Given the description of an element on the screen output the (x, y) to click on. 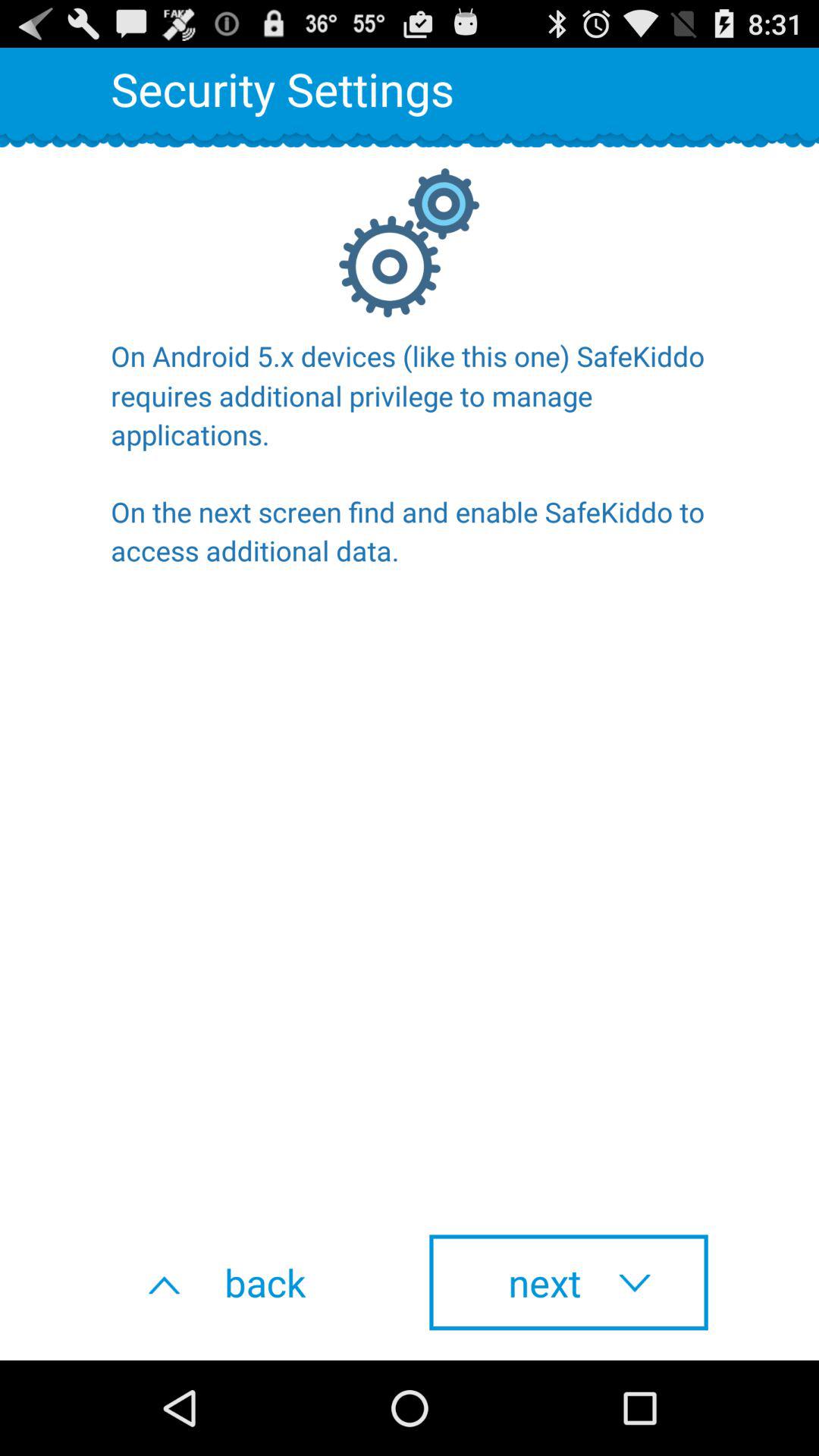
turn on the back item (249, 1282)
